Given the description of an element on the screen output the (x, y) to click on. 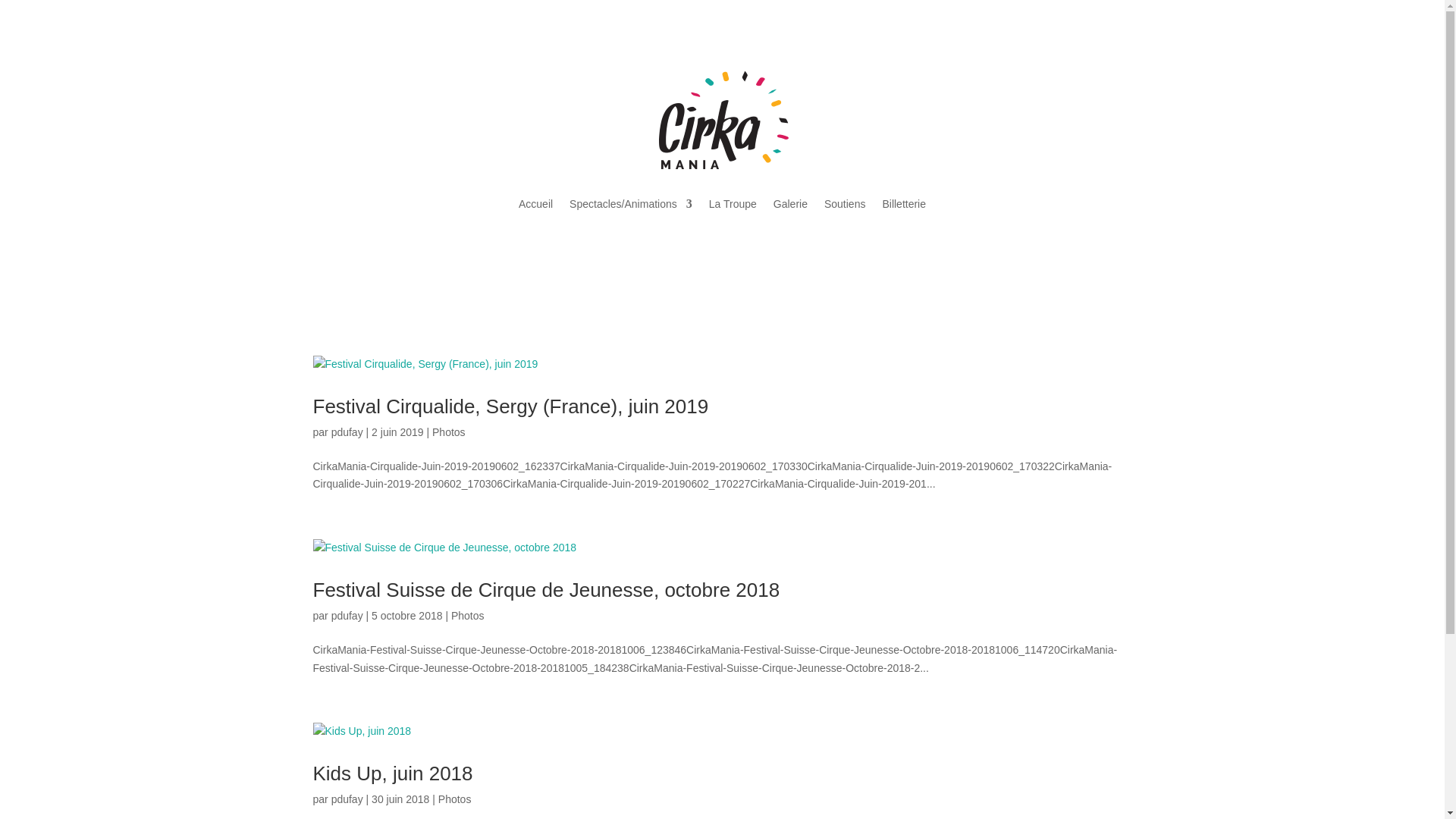
Spectacles/Animations Element type: text (630, 203)
Festival Suisse de Cirque de Jeunesse, octobre 2018 Element type: text (545, 589)
Billetterie Element type: text (903, 203)
La Troupe Element type: text (732, 203)
Galerie Element type: text (790, 203)
pdufay Element type: text (347, 615)
Photos Element type: text (467, 615)
Kids Up, juin 2018 Element type: text (392, 773)
Soutiens Element type: text (844, 203)
Photos Element type: text (448, 432)
pdufay Element type: text (347, 432)
Photos Element type: text (454, 799)
pdufay Element type: text (347, 799)
Festival Cirqualide, Sergy (France), juin 2019 Element type: text (510, 406)
Accueil Element type: text (535, 203)
